Given the description of an element on the screen output the (x, y) to click on. 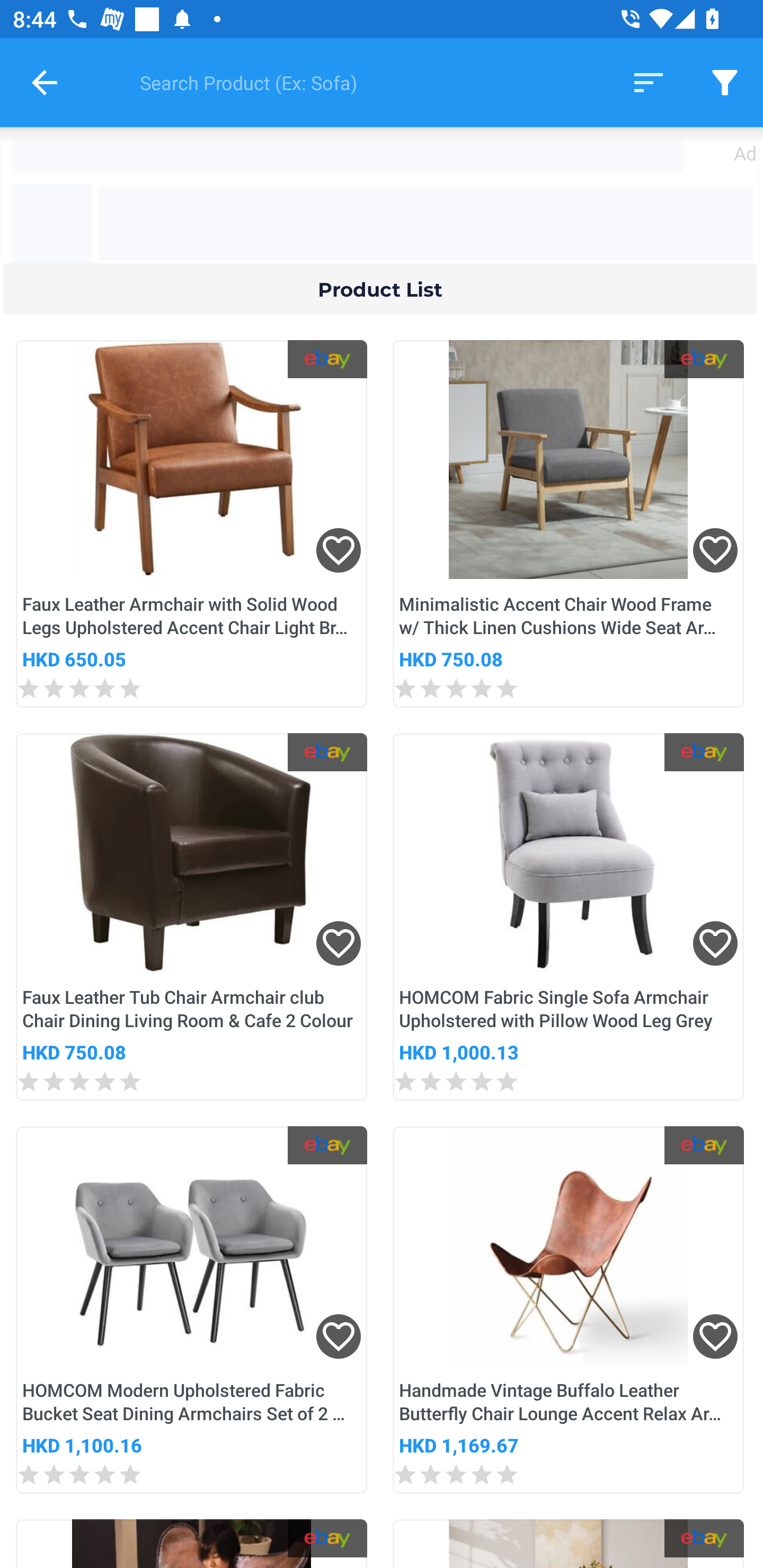
Collapse (44, 82)
short (648, 81)
short (724, 81)
Search Product (Ex: Sofa) (362, 82)
